Given the description of an element on the screen output the (x, y) to click on. 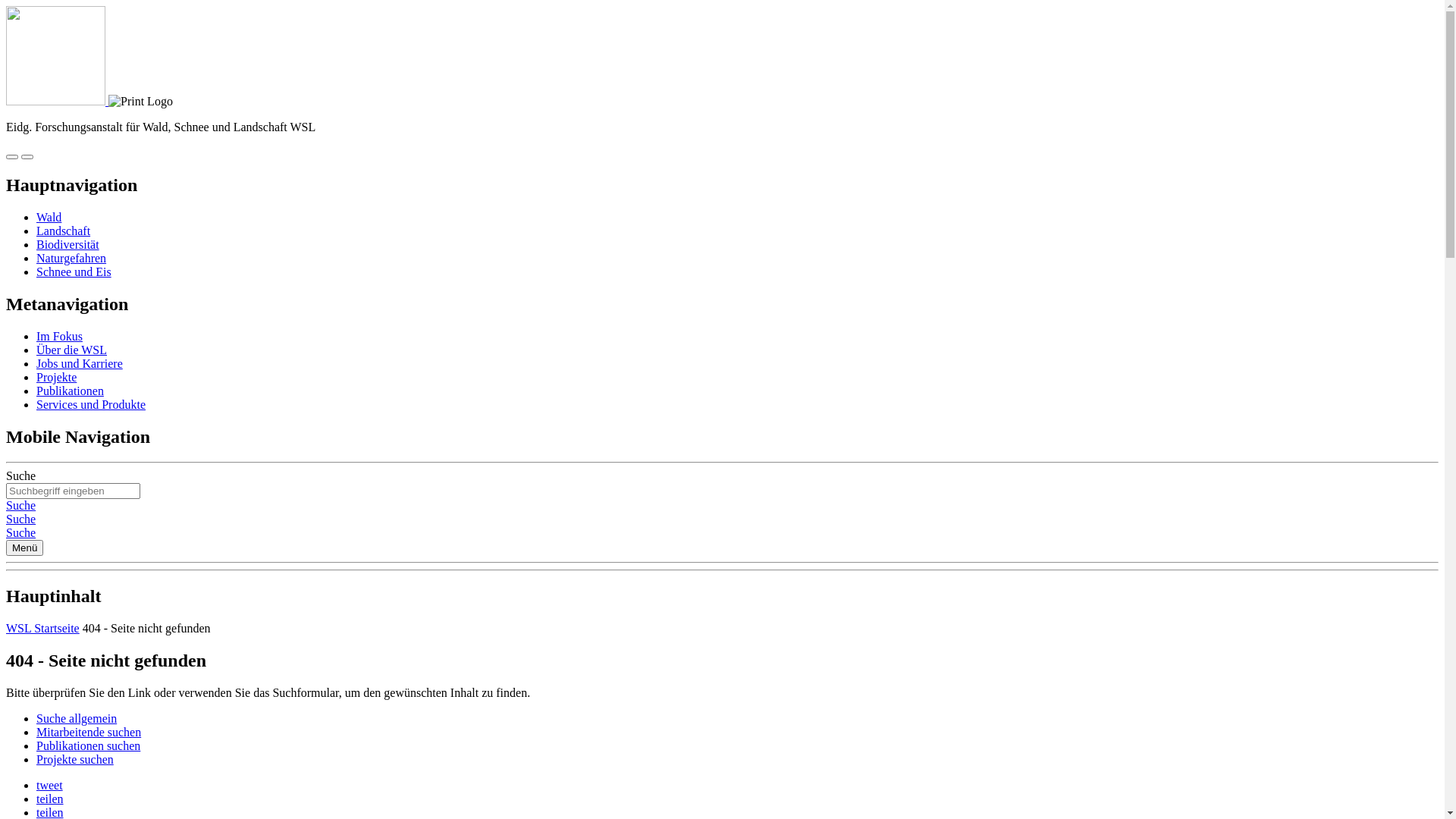
Landschaft Element type: text (63, 230)
WSL Startseite Element type: text (42, 627)
Projekte Element type: text (56, 376)
teilen Element type: text (49, 798)
Suche Element type: text (20, 504)
Wald Element type: text (48, 216)
Toggle Element type: hover (12, 156)
Naturgefahren Element type: text (71, 257)
Suche Element type: text (20, 532)
Jobs und Karriere Element type: text (79, 363)
Mitarbeitende suchen Element type: text (88, 731)
Suche Element type: text (20, 518)
tweet Element type: text (49, 784)
Im Fokus Element type: text (59, 335)
Services und Produkte Element type: text (90, 404)
Projekte suchen Element type: text (74, 759)
Suche allgemein Element type: text (76, 718)
Publikationen Element type: text (69, 390)
Schnee und Eis Element type: text (73, 271)
Publikationen suchen Element type: text (88, 745)
